Given the description of an element on the screen output the (x, y) to click on. 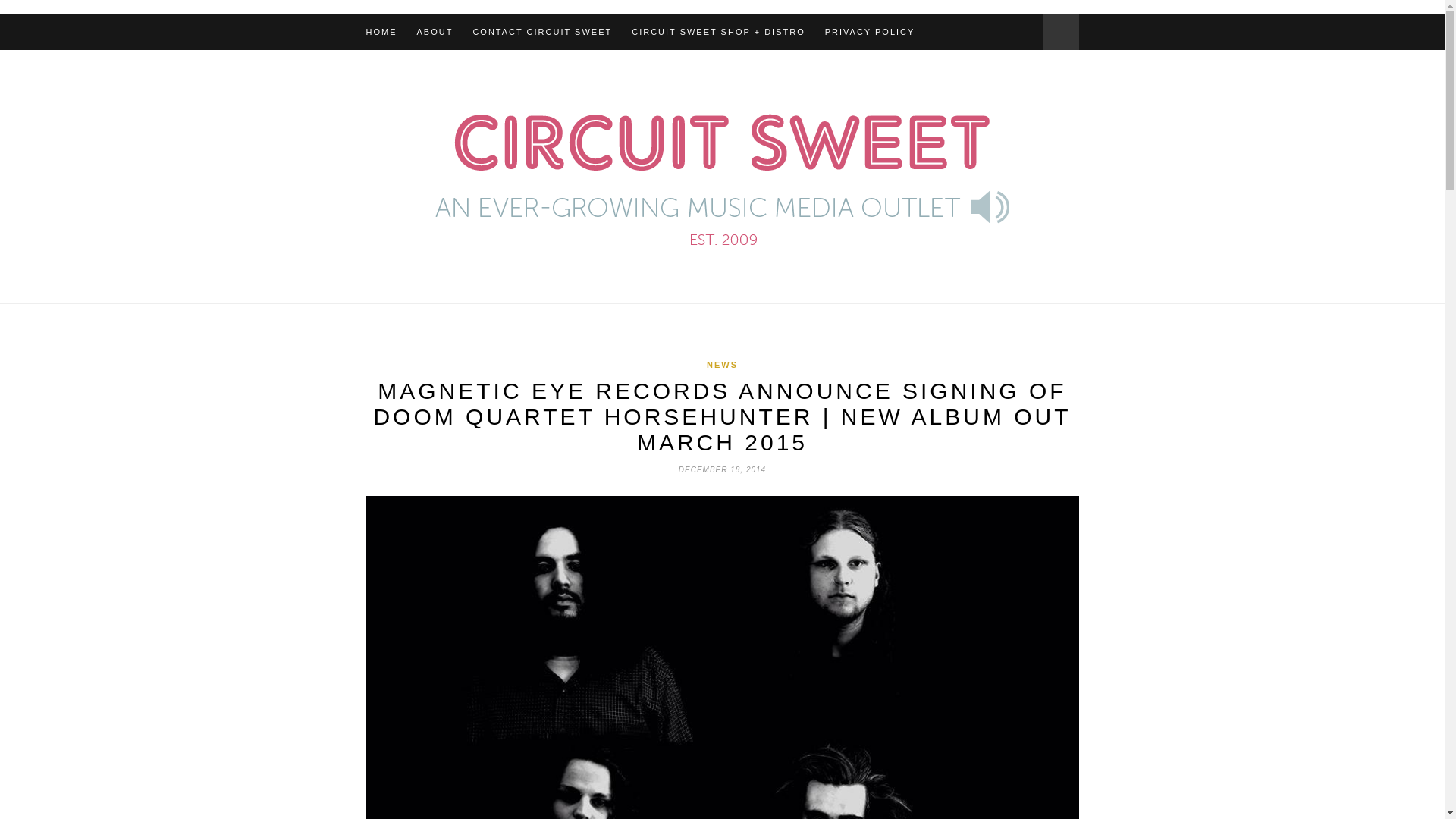
View all posts in News (722, 364)
PRIVACY POLICY (870, 31)
ABOUT (434, 31)
CONTACT CIRCUIT SWEET (541, 31)
NEWS (722, 364)
HOME (380, 31)
